Given the description of an element on the screen output the (x, y) to click on. 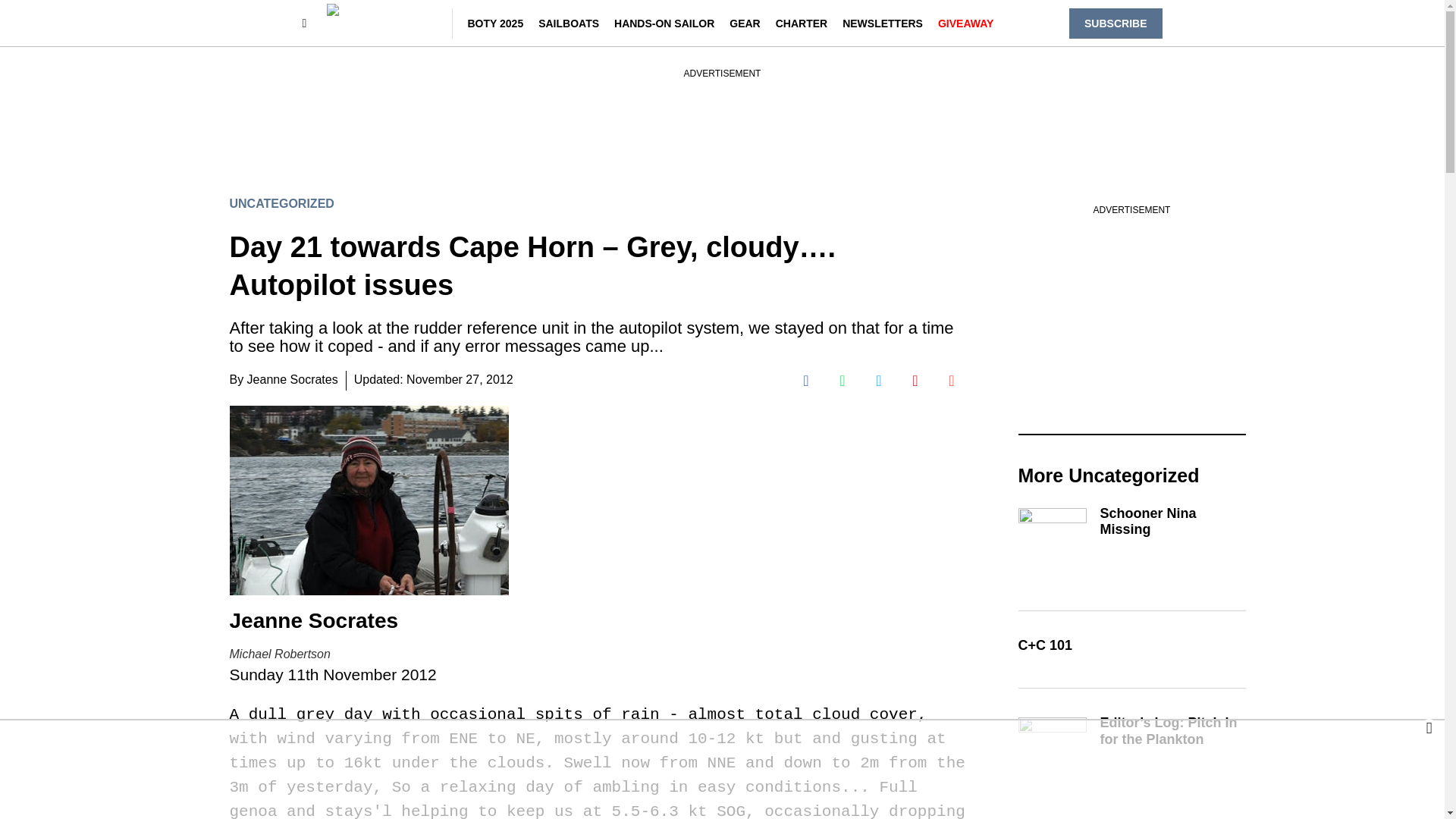
BOTY 2025 (494, 22)
SAILBOATS (568, 22)
GEAR (744, 22)
HANDS-ON SAILOR (664, 22)
